Given the description of an element on the screen output the (x, y) to click on. 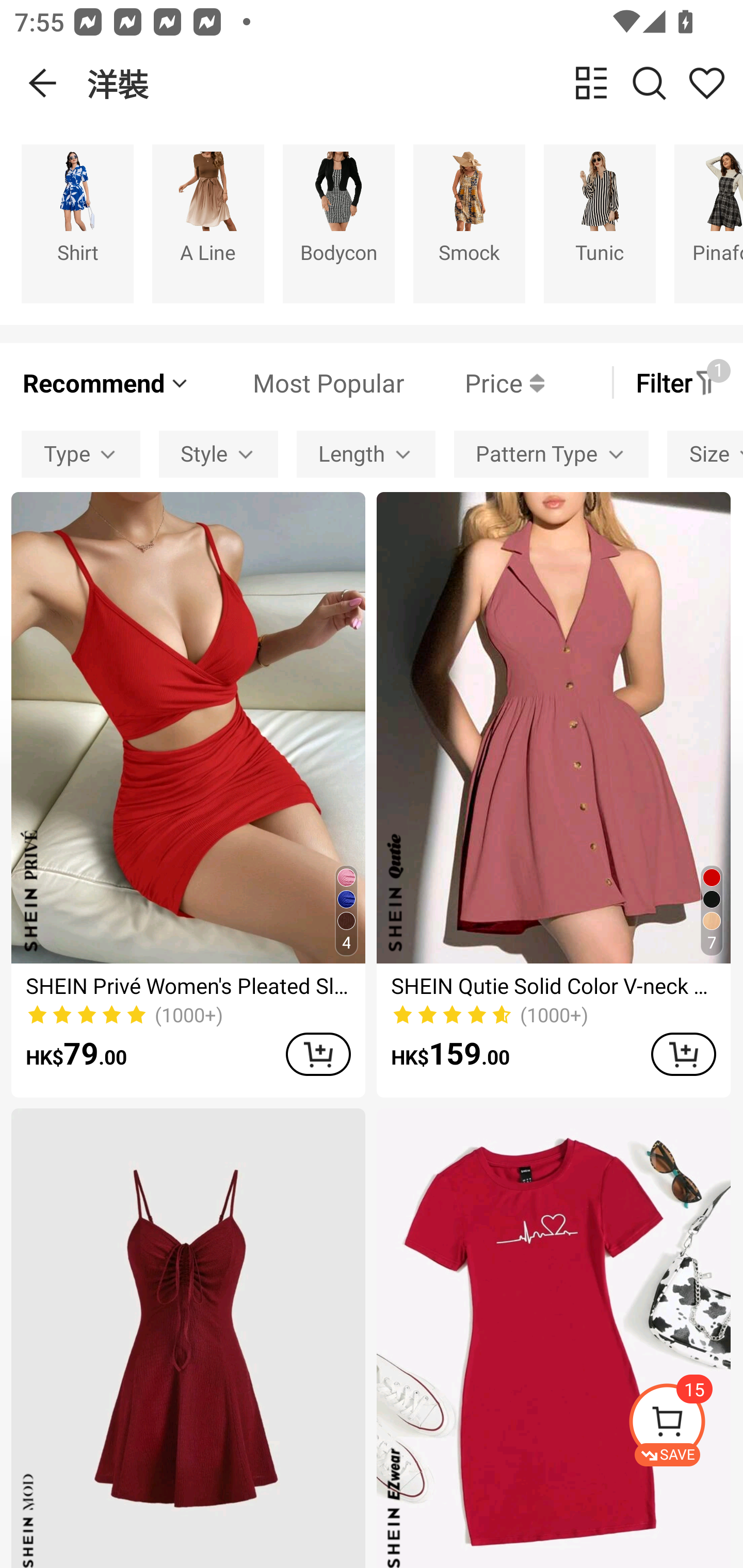
洋裝 change view Search Share (414, 82)
change view (591, 82)
Search (648, 82)
Share (706, 82)
Shirt (77, 223)
A Line (208, 223)
Bodycon (338, 223)
Smock (469, 223)
Tunic (599, 223)
Pinafore (708, 223)
Recommend (106, 382)
Most Popular (297, 382)
Price (474, 382)
Filter 1 (677, 382)
Type (80, 454)
Style (218, 454)
Length (365, 454)
Pattern Type (550, 454)
Size (705, 454)
ADD TO CART (318, 1054)
ADD TO CART (683, 1054)
SHEIN MOD Solid Drawstring Front Cami Dress (188, 1338)
SHEIN EZwear Heart Print Bodycon Dress (553, 1338)
SAVE (685, 1424)
